Given the description of an element on the screen output the (x, y) to click on. 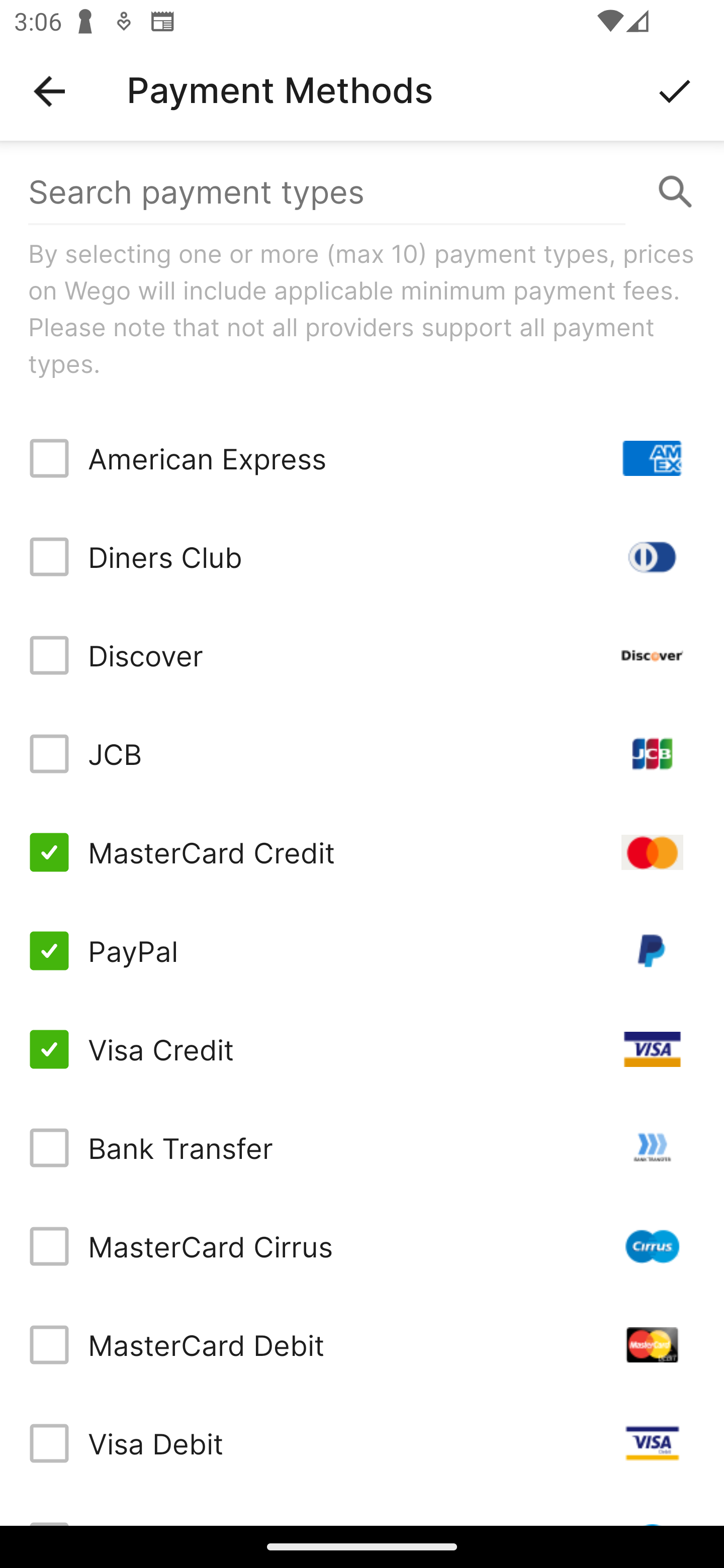
Search payment types  (361, 191)
American Express (362, 458)
Diners Club (362, 557)
Discover (362, 655)
JCB (362, 753)
MasterCard Credit (362, 851)
PayPal (362, 950)
Visa Credit (362, 1049)
Bank Transfer (362, 1147)
MasterCard Cirrus (362, 1245)
MasterCard Debit (362, 1344)
Visa Debit (362, 1442)
